Given the description of an element on the screen output the (x, y) to click on. 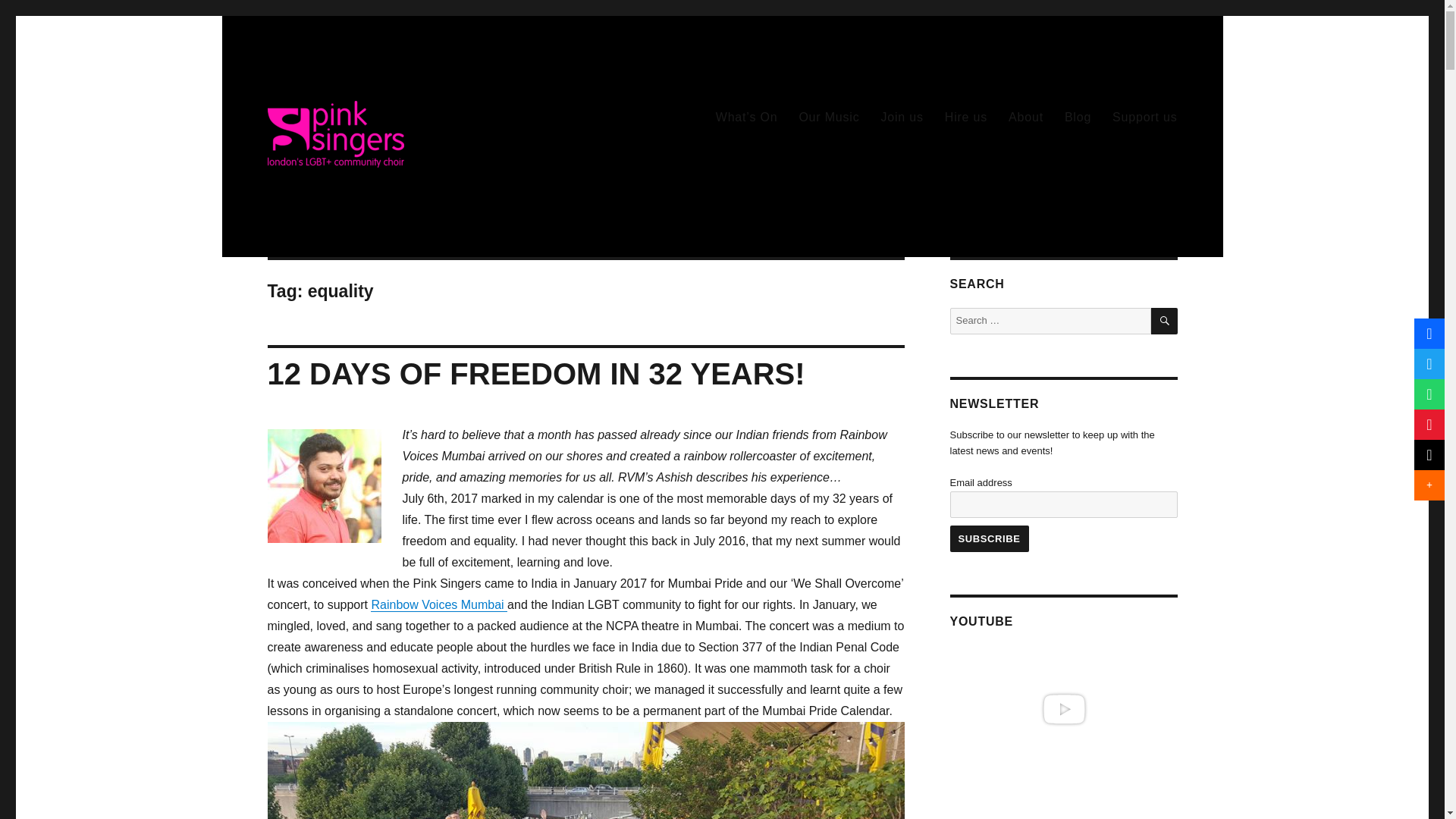
Subscribe (988, 538)
Support us (1145, 116)
Rainbow Voices Mumbai (438, 604)
Blog (1078, 116)
12 DAYS OF FREEDOM IN 32 YEARS! (535, 373)
Join us (901, 116)
Pink Singers (334, 135)
Our Music (828, 116)
Hire us (965, 116)
About (1025, 116)
